Given the description of an element on the screen output the (x, y) to click on. 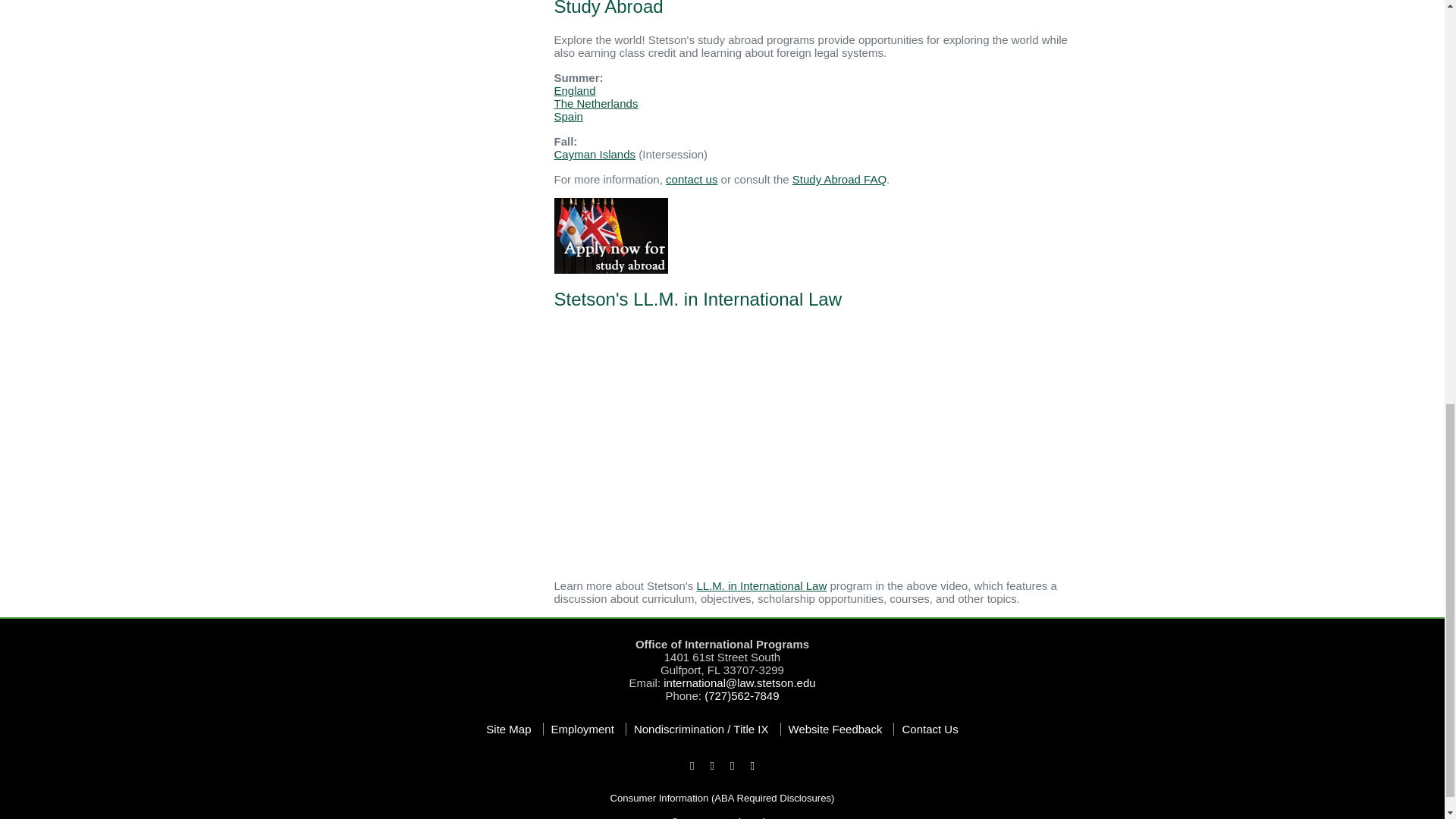
YouTube video player (765, 445)
study abroad (609, 234)
Contact Information (721, 669)
Oxford, England (574, 90)
Cayman Islands Winter Break Program (593, 154)
